Given the description of an element on the screen output the (x, y) to click on. 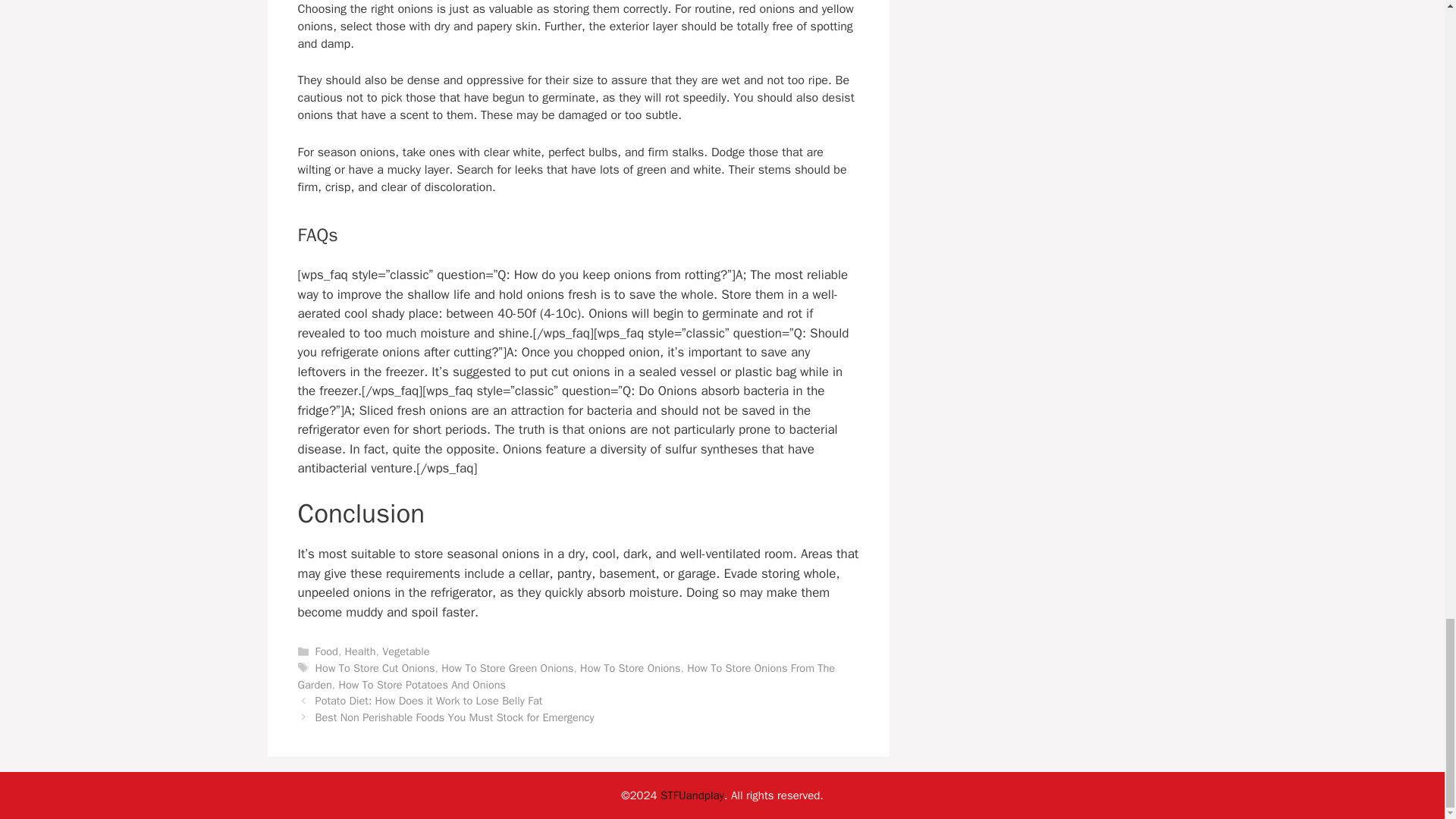
How To Store Green Onions (507, 667)
How To Store Cut Onions (375, 667)
How To Store Onions (629, 667)
Best Non Perishable Foods You Must Stock for Emergency (454, 716)
How To Store Potatoes And Onions (421, 684)
Vegetable (405, 651)
Food (326, 651)
STFUandplay (692, 795)
How To Store Onions From The Garden (565, 675)
Potato Diet: How Does it Work to Lose Belly Fat (429, 700)
Health (360, 651)
